Given the description of an element on the screen output the (x, y) to click on. 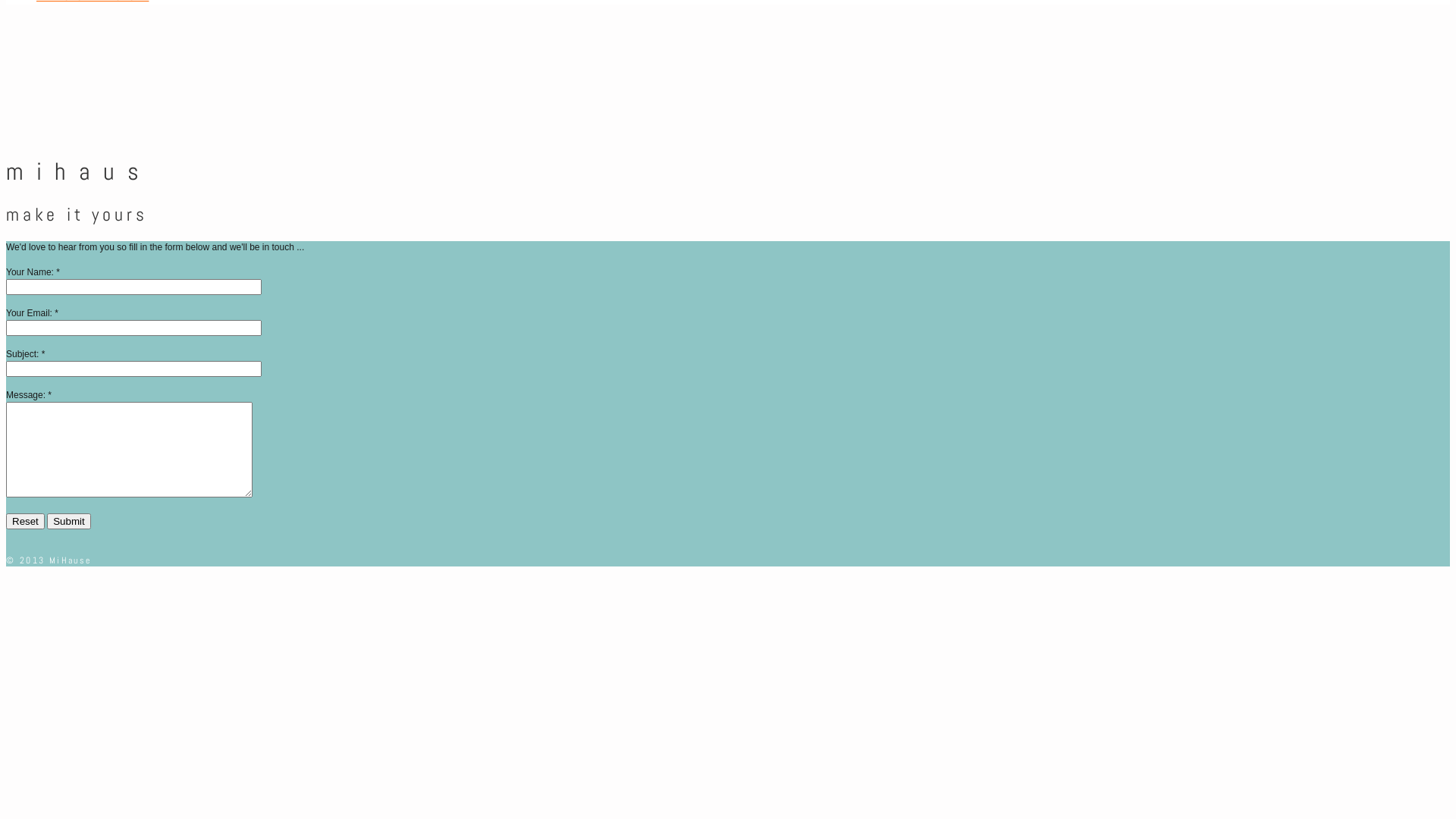
Submit Element type: text (68, 521)
